Given the description of an element on the screen output the (x, y) to click on. 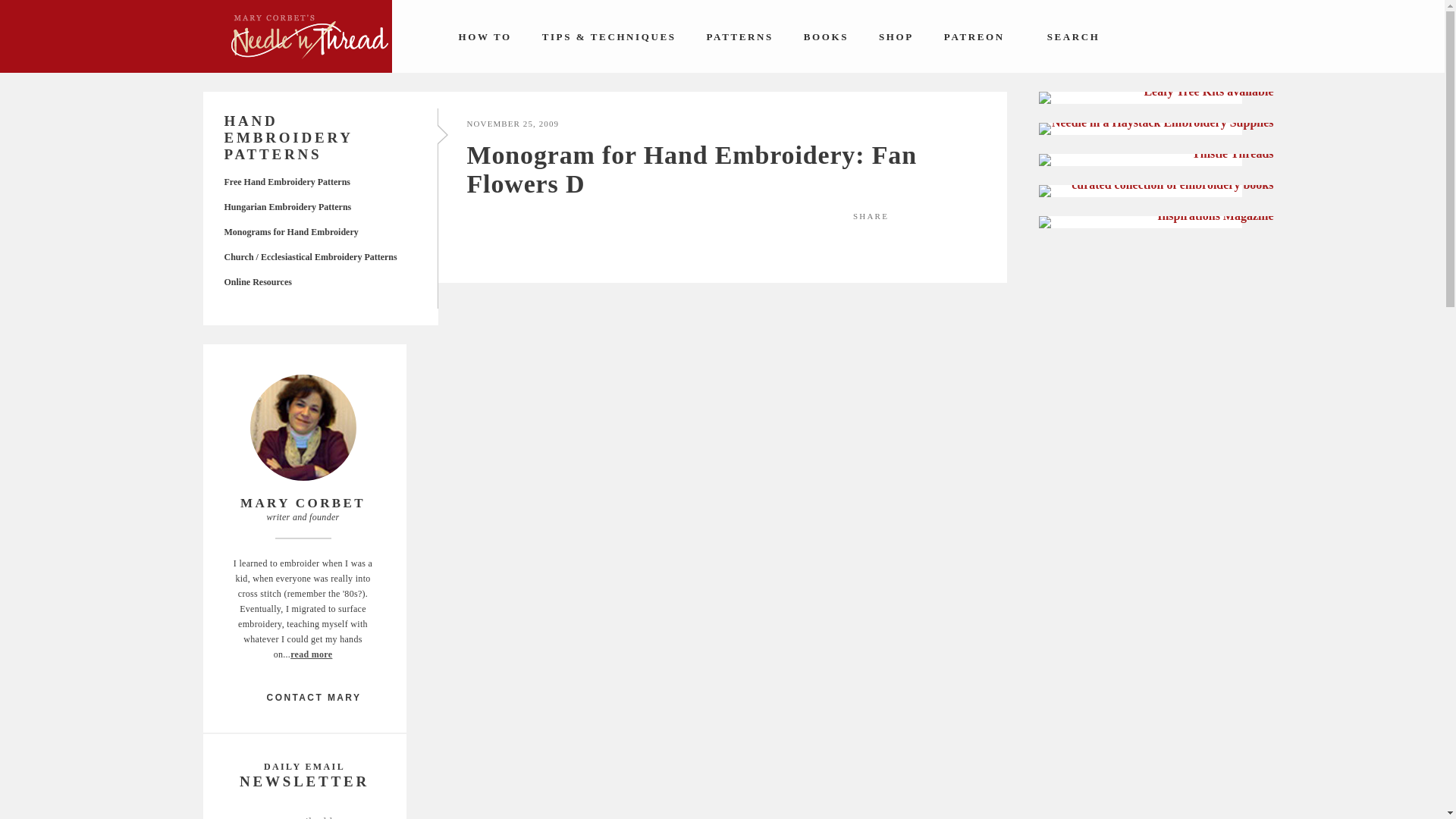
 SEARCH (1067, 36)
News Signup (303, 814)
PATREON (974, 36)
HOW TO (483, 36)
PATTERNS (740, 36)
BOOKS (826, 36)
